Given the description of an element on the screen output the (x, y) to click on. 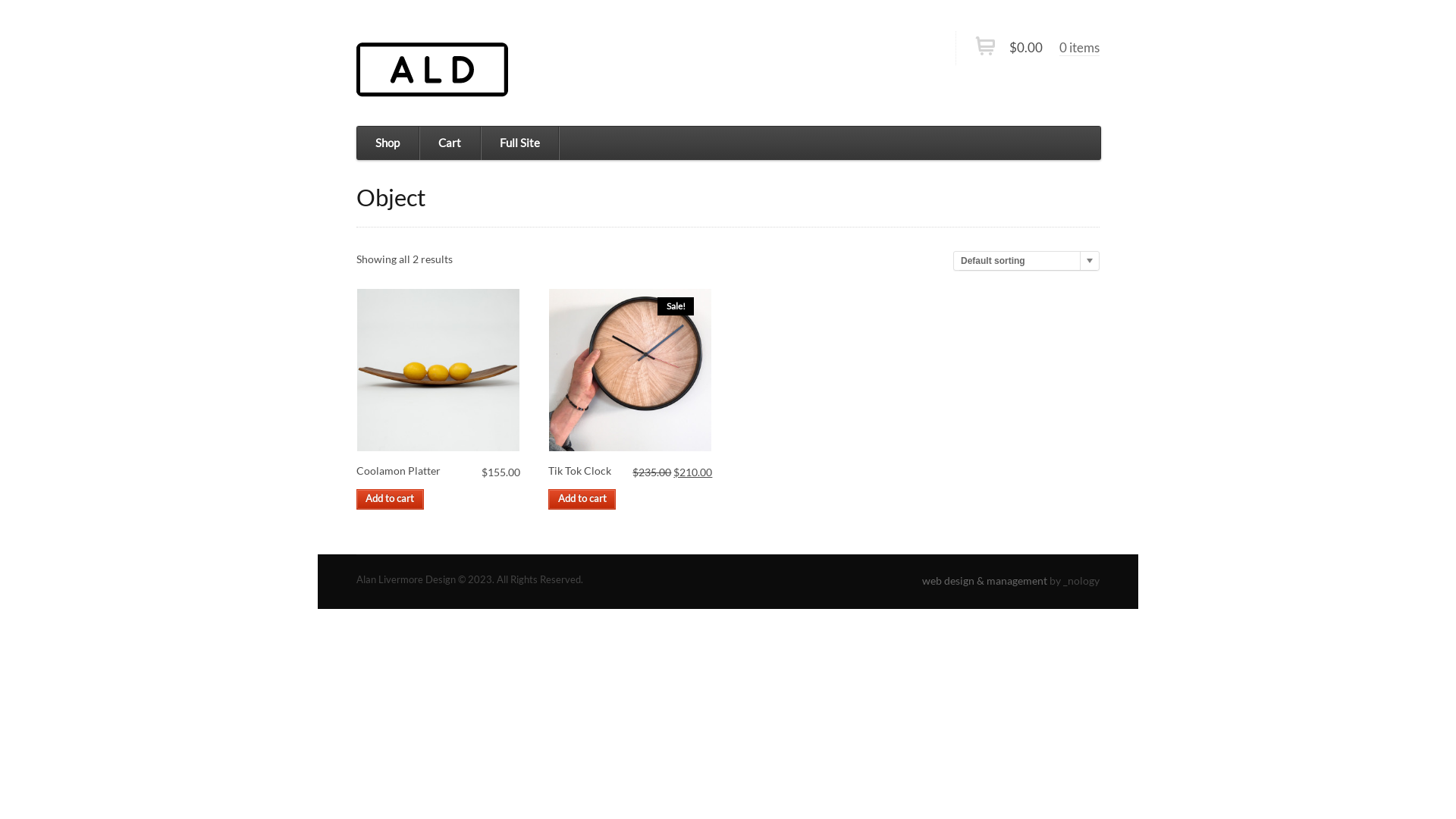
Sale!
Tik Tok Clock
$235.00 $210.00 Element type: text (630, 369)
Coolamon Platter
$155.00 Element type: text (438, 369)
$0.000 items Element type: text (1047, 48)
Add to cart Element type: text (581, 499)
web design & management Element type: text (984, 580)
Full Site Element type: text (519, 143)
Cart Element type: text (449, 143)
Add to cart Element type: text (389, 499)
Shop Element type: text (387, 143)
Furniture & Bespoke Joinery Tasmania Element type: hover (432, 69)
